Given the description of an element on the screen output the (x, y) to click on. 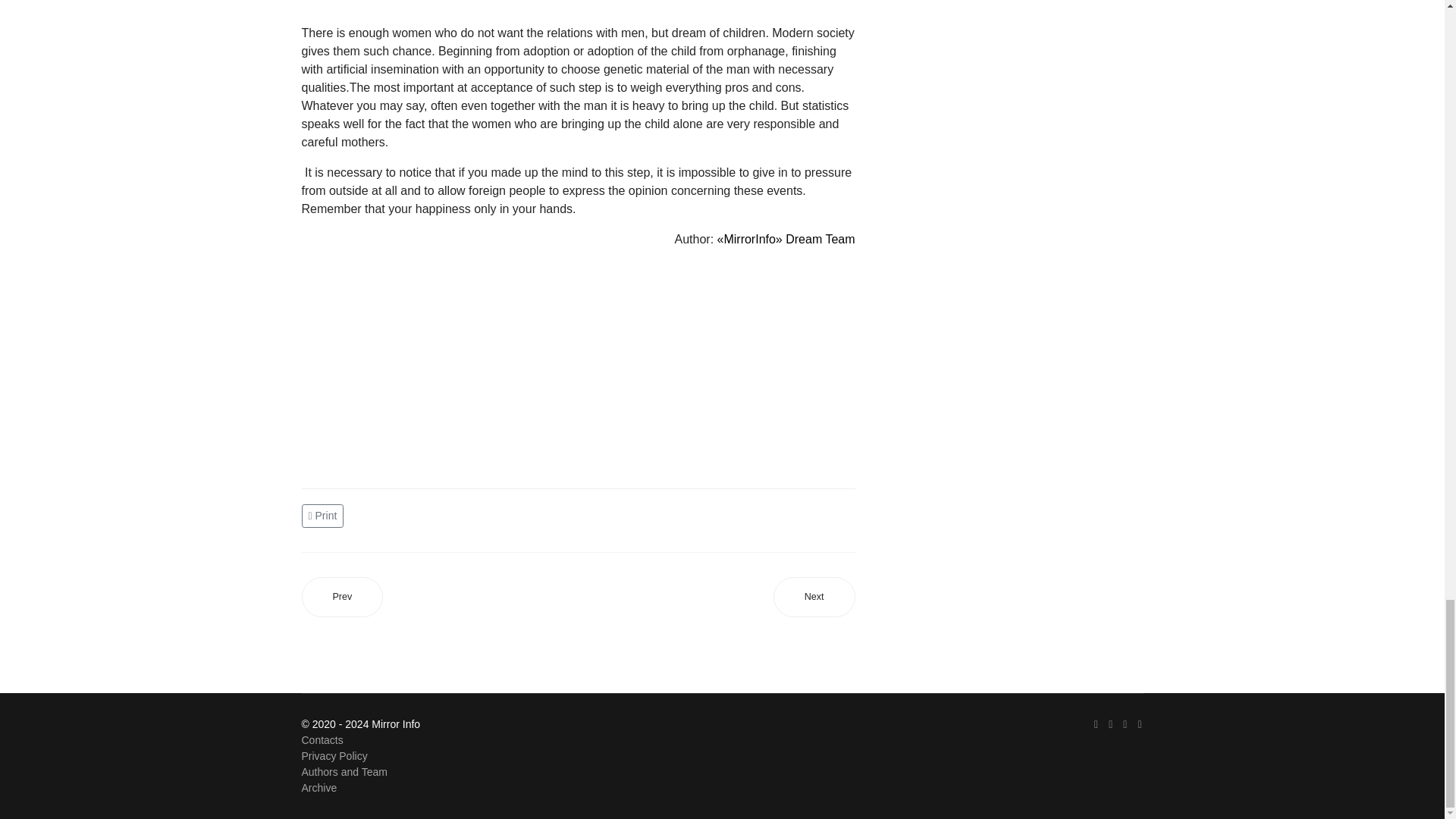
Next (814, 597)
Prev (342, 597)
Print (324, 513)
